Given the description of an element on the screen output the (x, y) to click on. 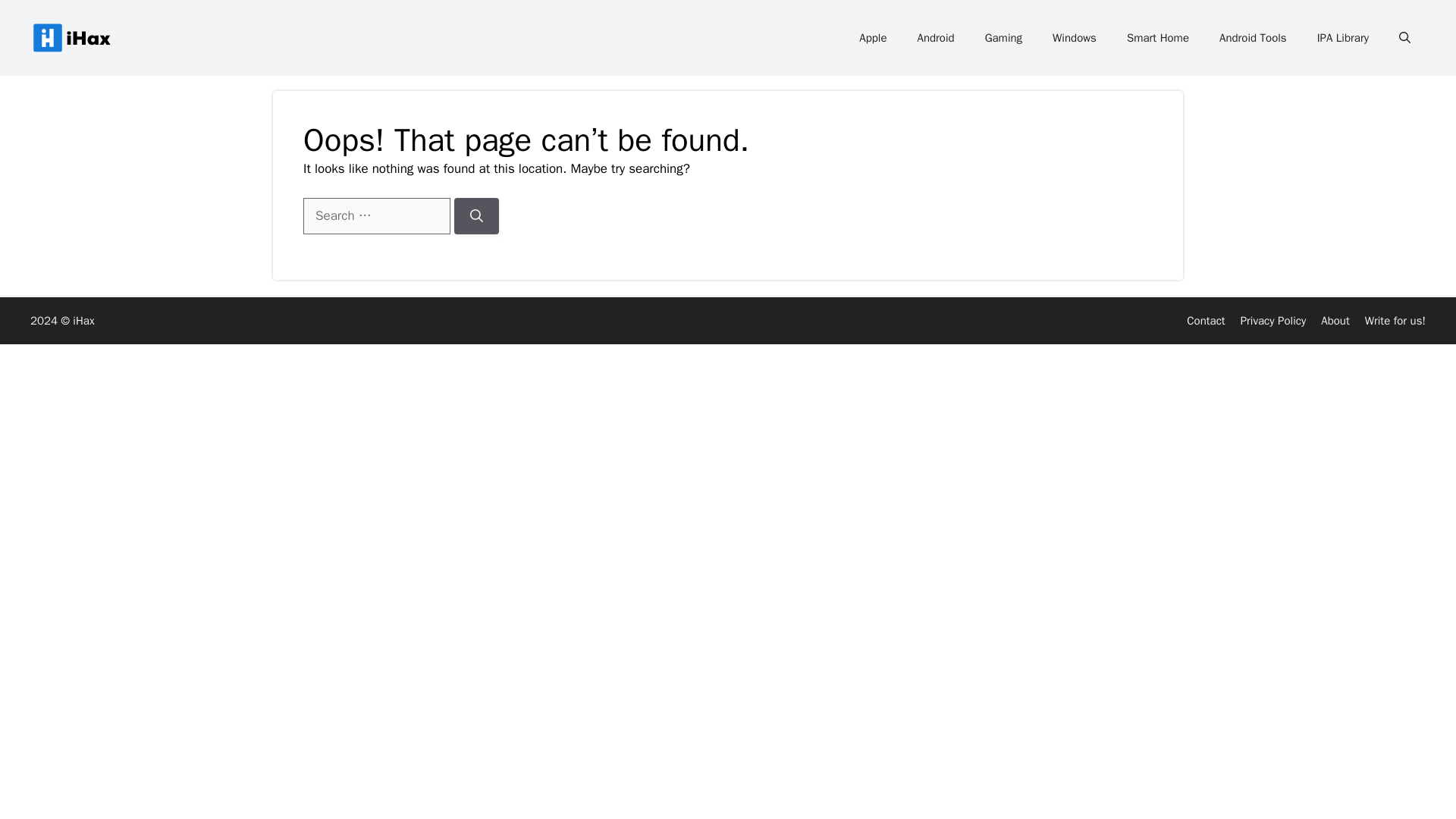
Android Tools (1252, 37)
Android (935, 37)
Privacy Policy (1273, 320)
Apple (872, 37)
Contact (1205, 320)
About (1334, 320)
Windows (1074, 37)
Gaming (1002, 37)
Smart Home (1158, 37)
IPA Library (1342, 37)
Write for us! (1395, 320)
Search for: (375, 216)
